Given the description of an element on the screen output the (x, y) to click on. 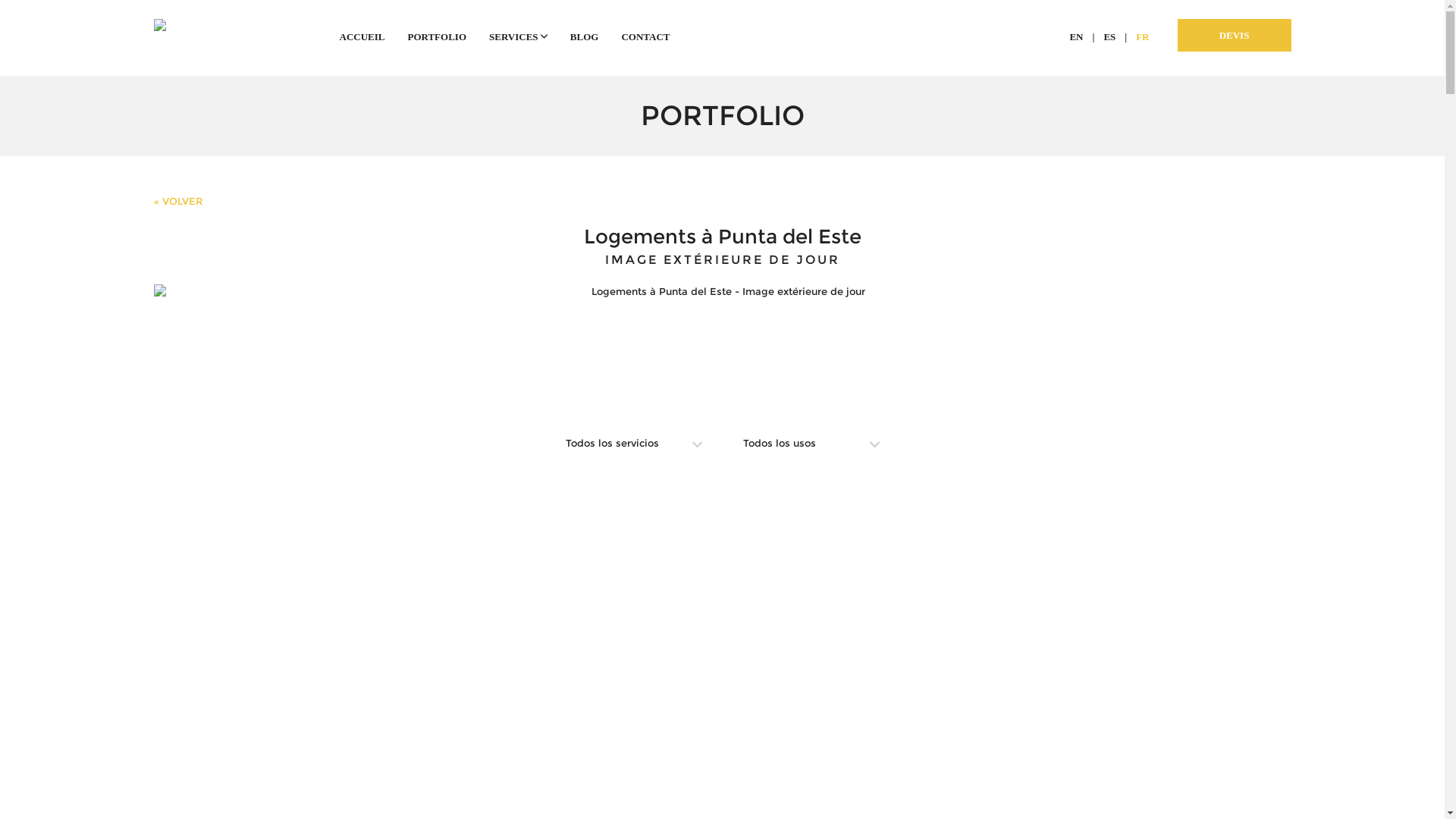
EN Element type: text (1076, 36)
PORTFOLIO Element type: text (436, 36)
FR Element type: text (1141, 36)
CONTACT Element type: text (645, 36)
ACCUEIL Element type: text (362, 36)
DEVIS Element type: text (1233, 34)
SERVICES Element type: text (518, 36)
ES Element type: text (1109, 36)
BLOG Element type: text (584, 36)
